Given the description of an element on the screen output the (x, y) to click on. 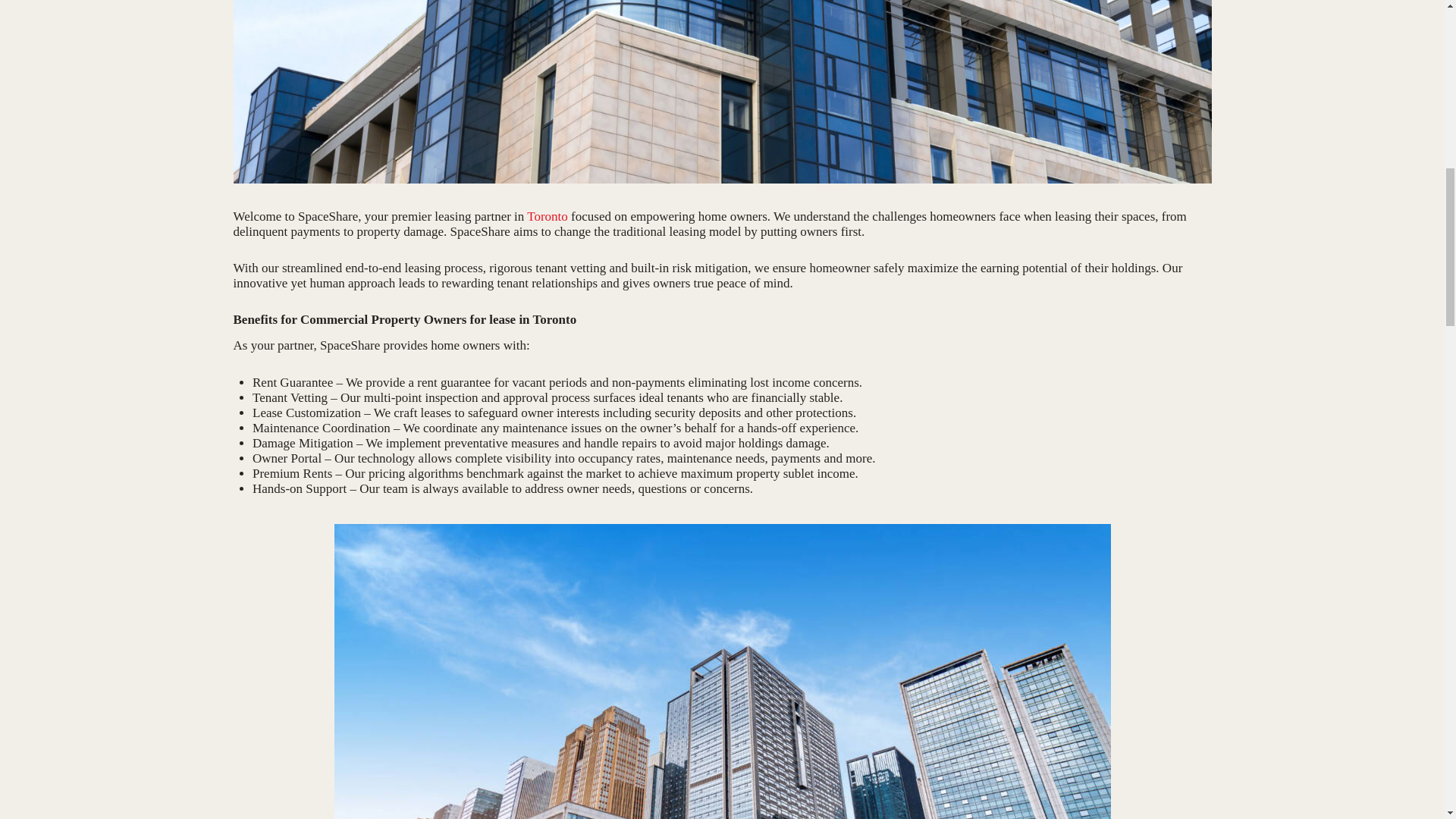
Toronto (547, 216)
